Given the description of an element on the screen output the (x, y) to click on. 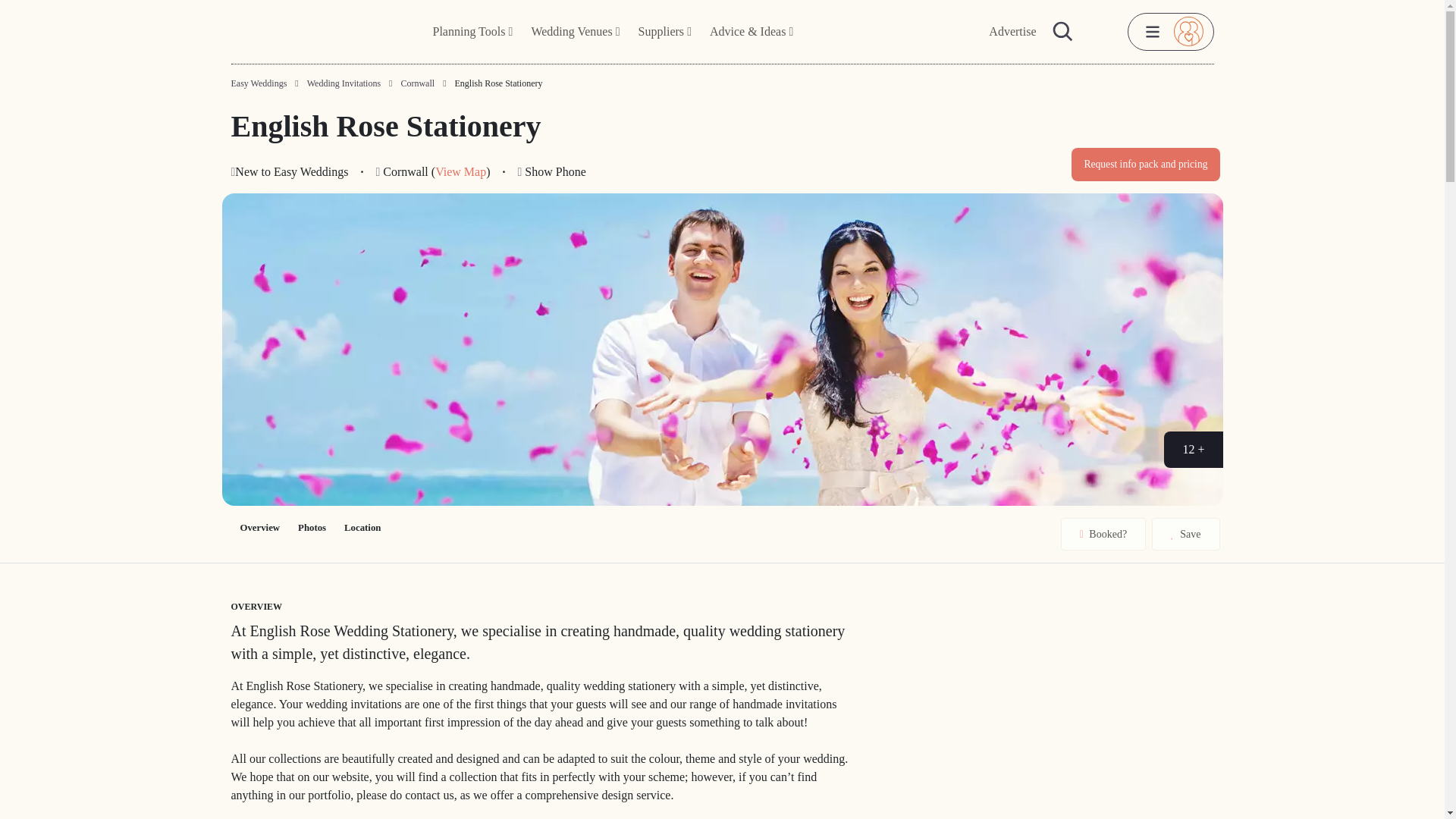
Request info pack and pricing (1145, 164)
Advertise (1012, 31)
Easy Weddings (258, 83)
Cornwall (416, 82)
Suppliers (664, 31)
Overview (259, 528)
View Map (460, 171)
Photos (311, 528)
Location (362, 528)
Wedding Venues (575, 31)
Booked? (1103, 533)
Wedding Invitations (343, 83)
Planning Tools (472, 31)
Save (1185, 533)
